Given the description of an element on the screen output the (x, y) to click on. 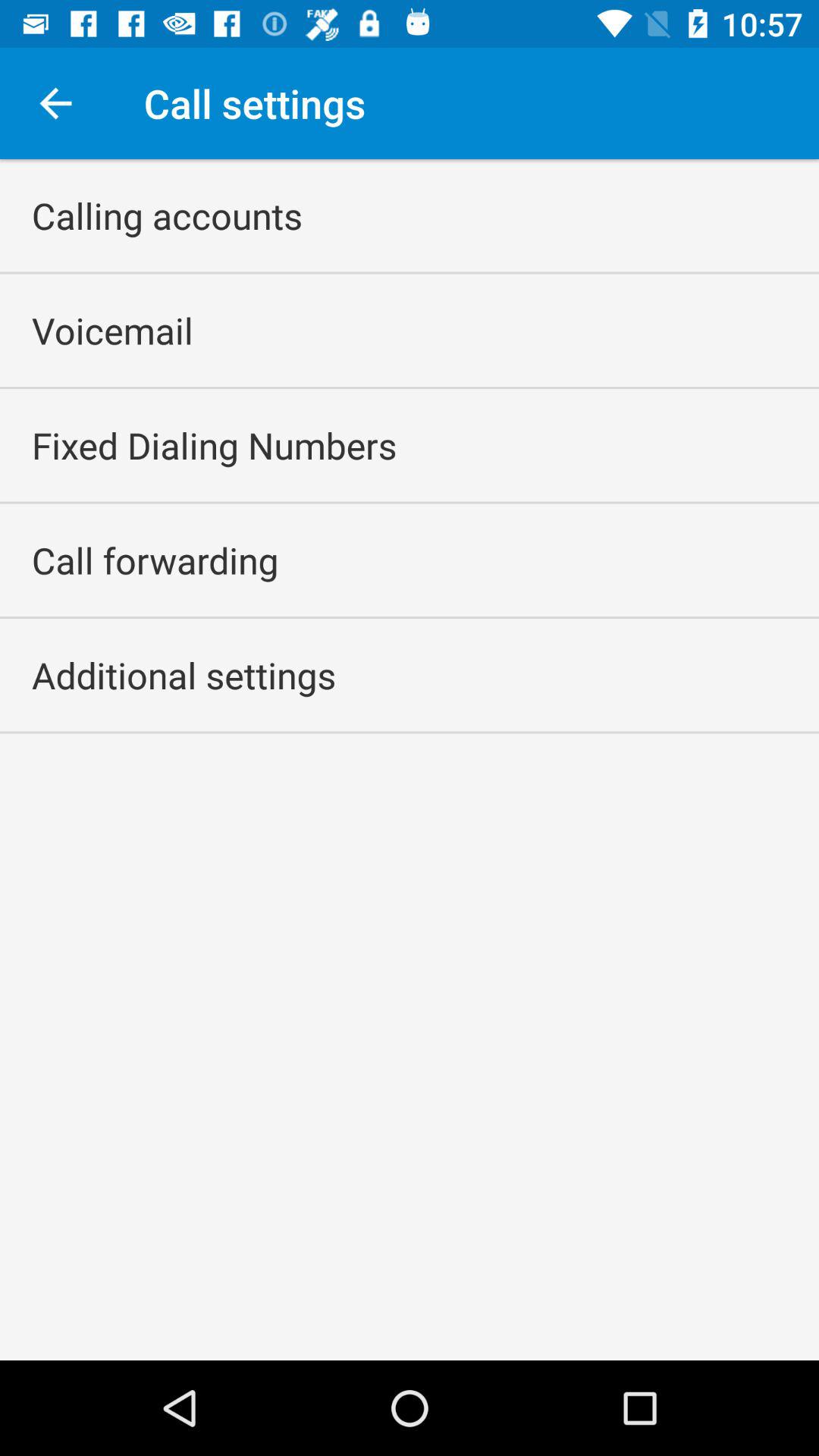
swipe to call forwarding (154, 559)
